Given the description of an element on the screen output the (x, y) to click on. 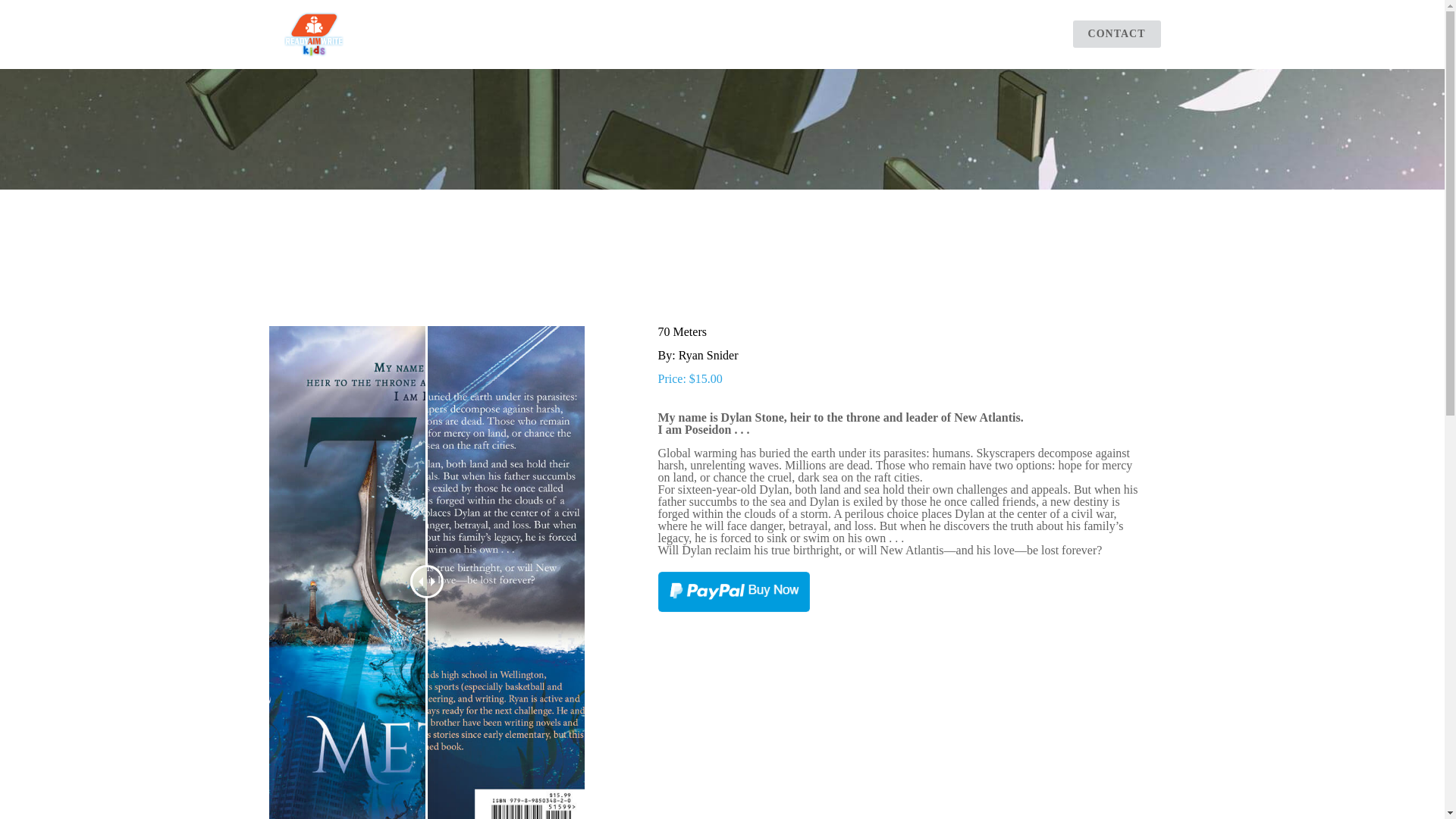
AUTHORS (817, 33)
MEDIA (1017, 33)
CONTACT (1116, 34)
ABOUT (664, 33)
BOOKS (737, 33)
ILLUSTRATORS (921, 33)
Ryan Snider (708, 354)
HOME (595, 33)
